Given the description of an element on the screen output the (x, y) to click on. 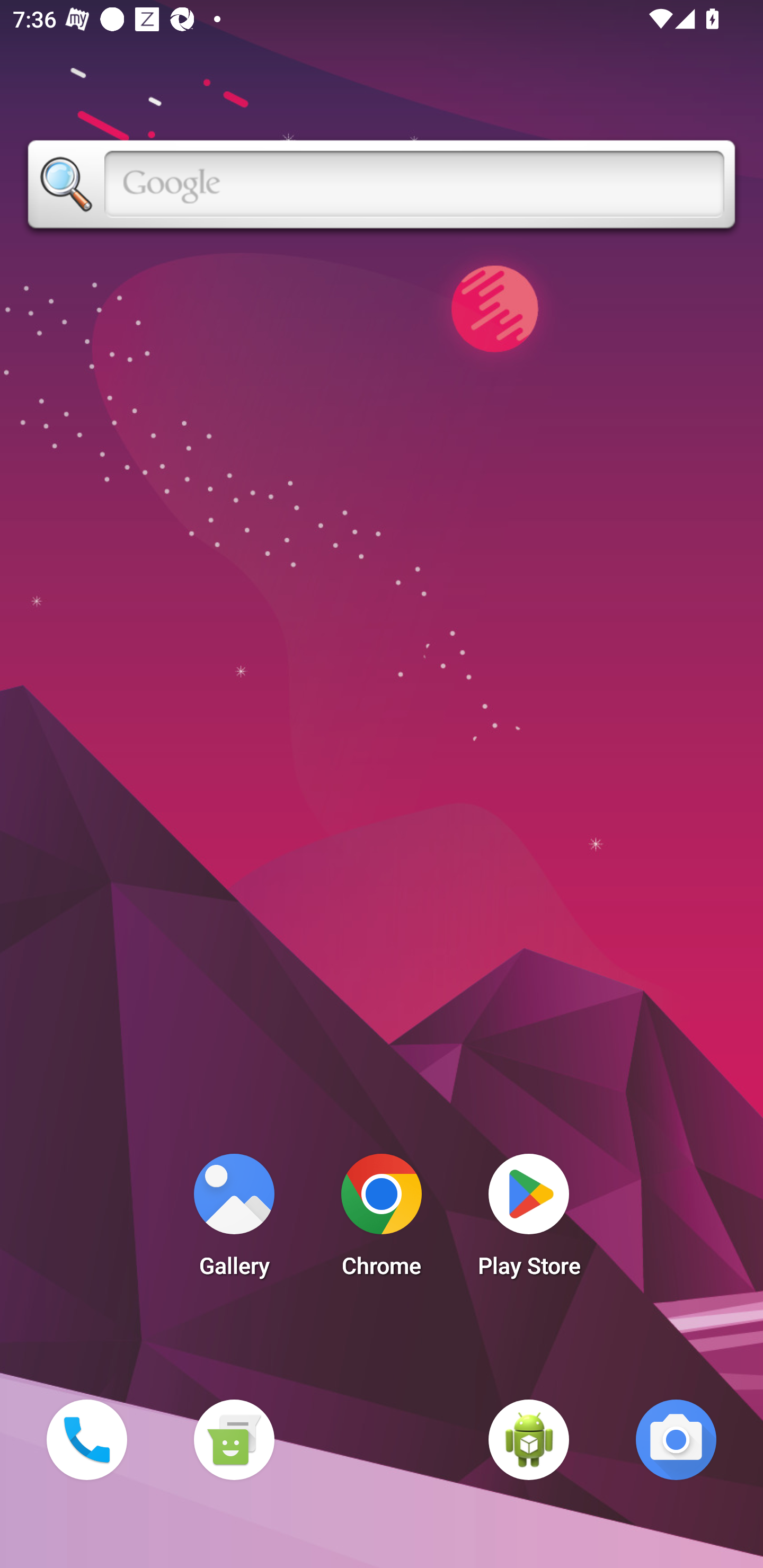
Gallery (233, 1220)
Chrome (381, 1220)
Play Store (528, 1220)
Phone (86, 1439)
Messaging (233, 1439)
WebView Browser Tester (528, 1439)
Camera (676, 1439)
